Given the description of an element on the screen output the (x, y) to click on. 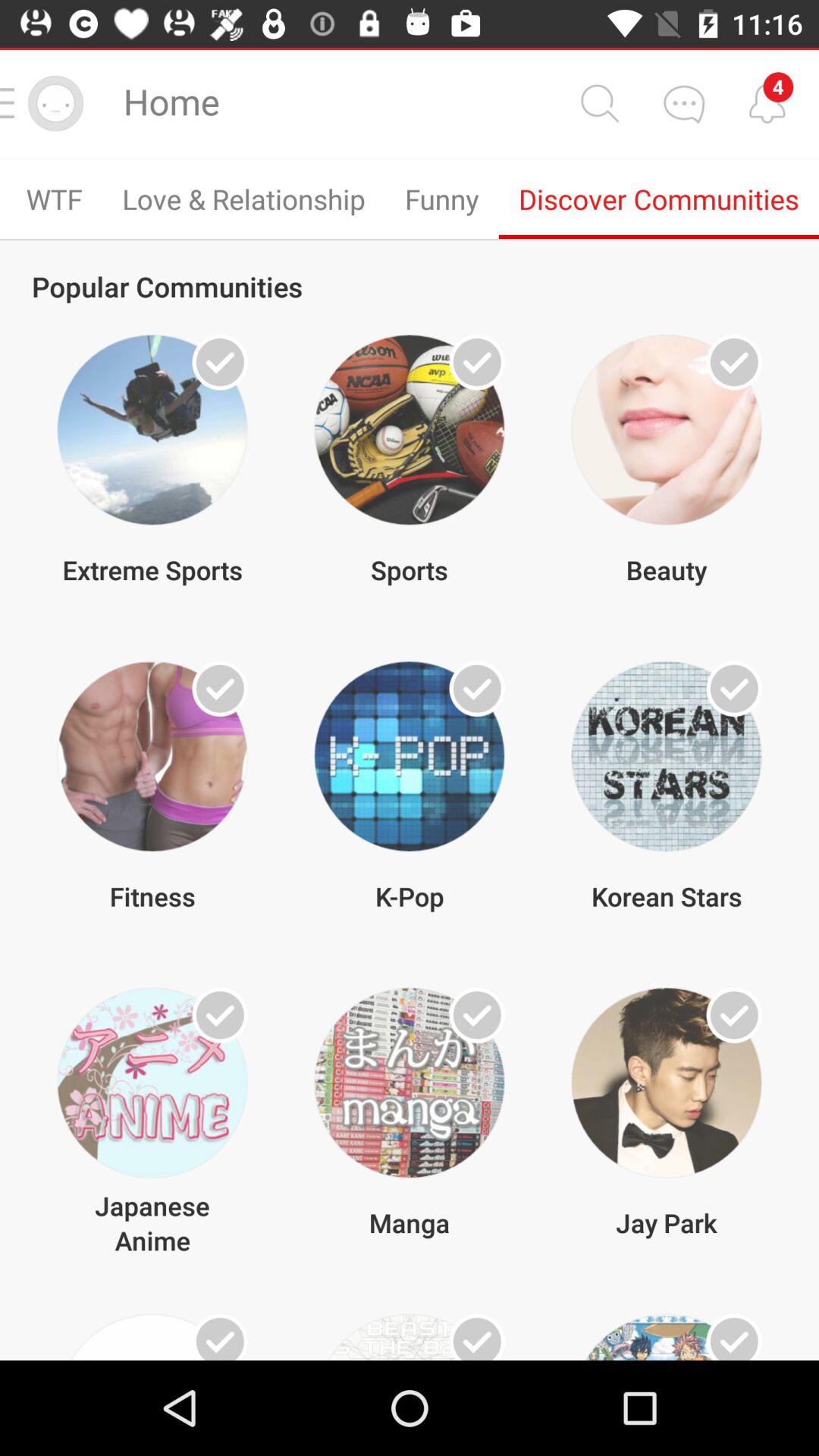
select this item (219, 1336)
